Given the description of an element on the screen output the (x, y) to click on. 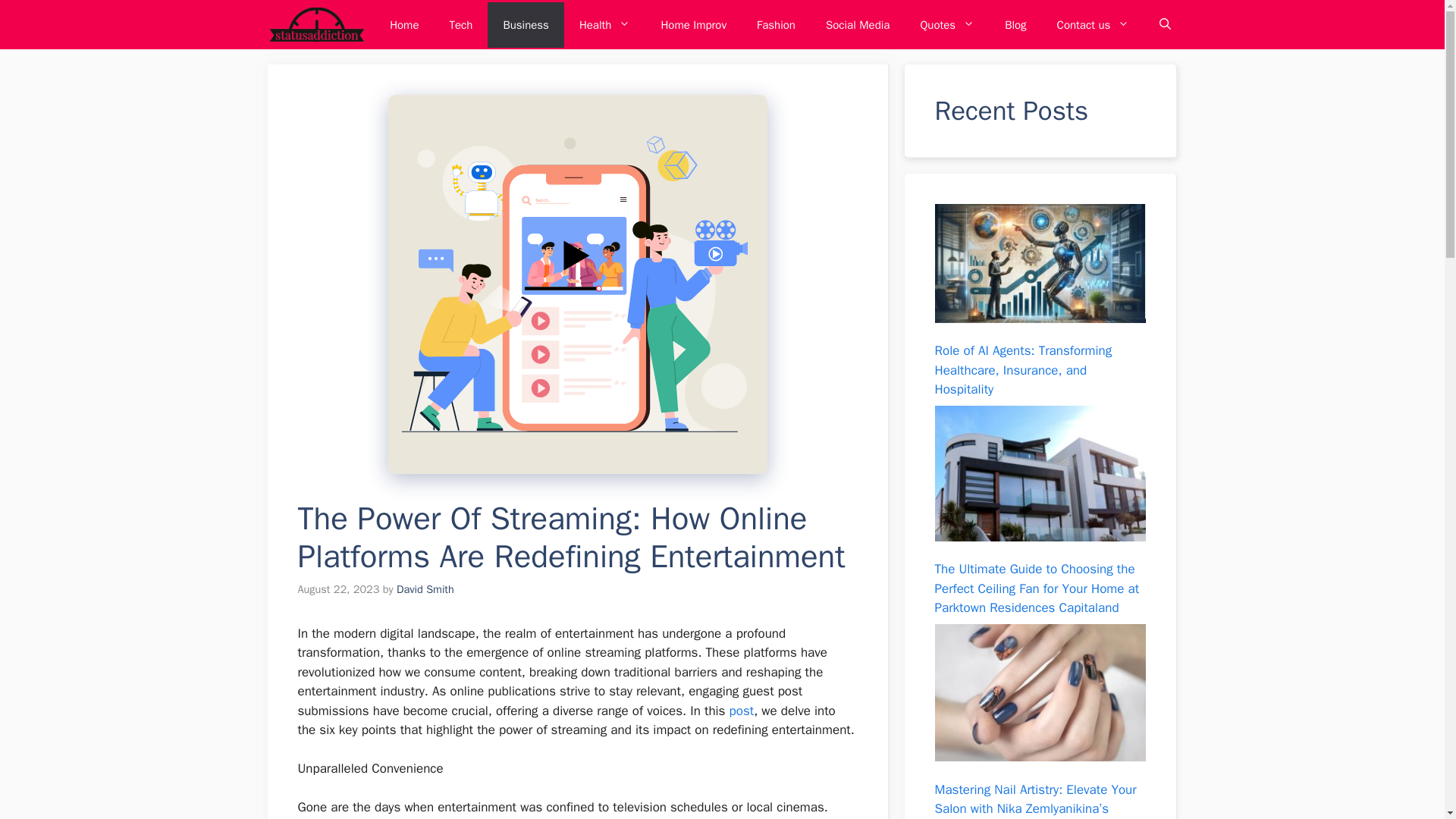
Blog (1015, 23)
View all posts by David Smith (425, 589)
Social Media (857, 23)
Fashion (775, 23)
Home (403, 23)
David Smith (425, 589)
Tech (460, 23)
Contact us (1093, 23)
Health (605, 23)
Status Addiction (316, 24)
post (741, 710)
Quotes (947, 23)
Business (525, 23)
Home Improv (693, 23)
